Given the description of an element on the screen output the (x, y) to click on. 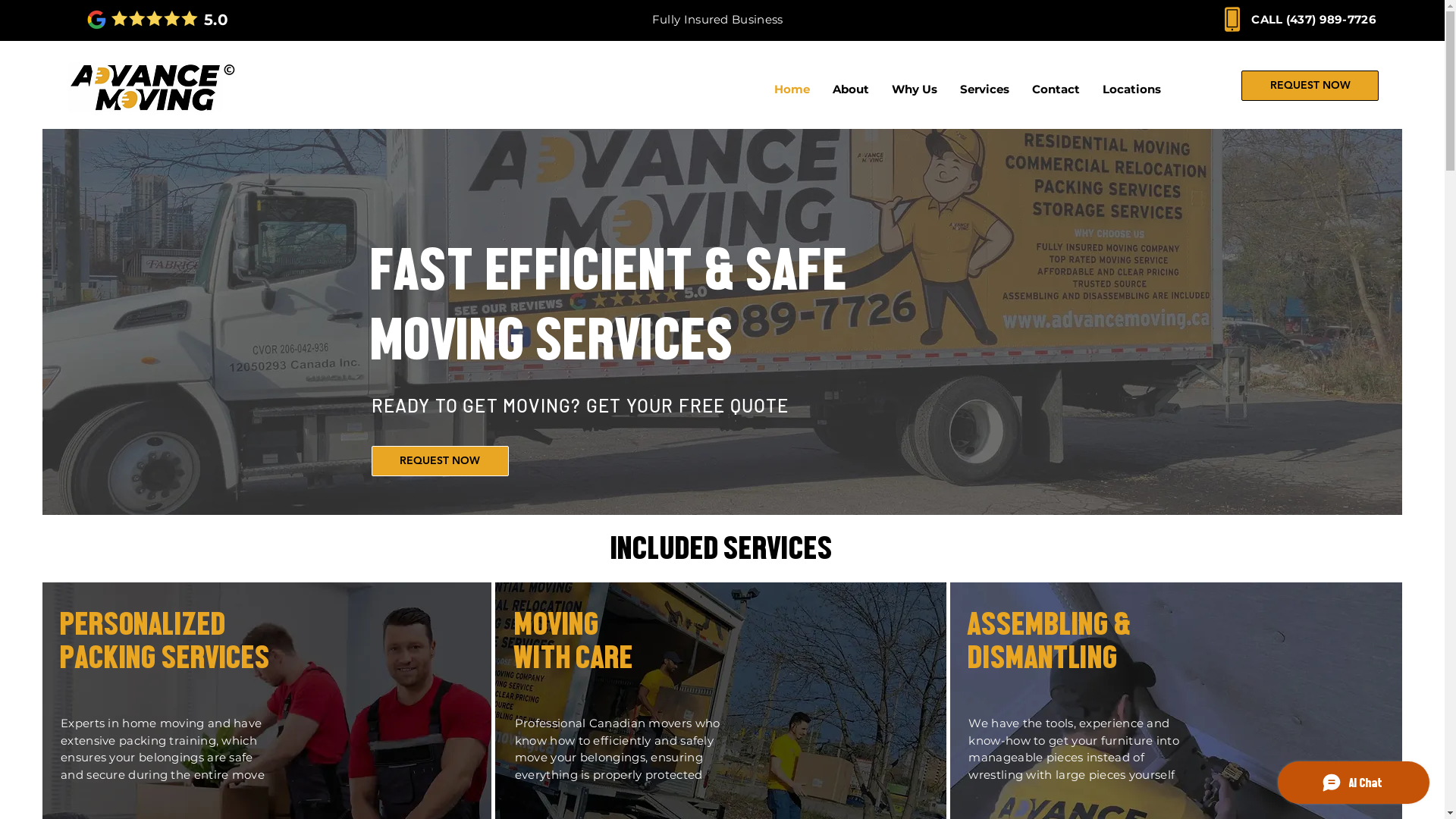
Home Element type: text (791, 89)
Dismantling & Assembly Included Element type: text (717, 13)
Why Us Element type: text (914, 89)
Services Element type: text (984, 89)
About Element type: text (850, 89)
REQUEST NOW Element type: text (1309, 85)
CALL (437) 989-7726 Element type: text (1313, 19)
Contact Element type: text (1055, 89)
REQUEST NOW Element type: text (439, 460)
